Given the description of an element on the screen output the (x, y) to click on. 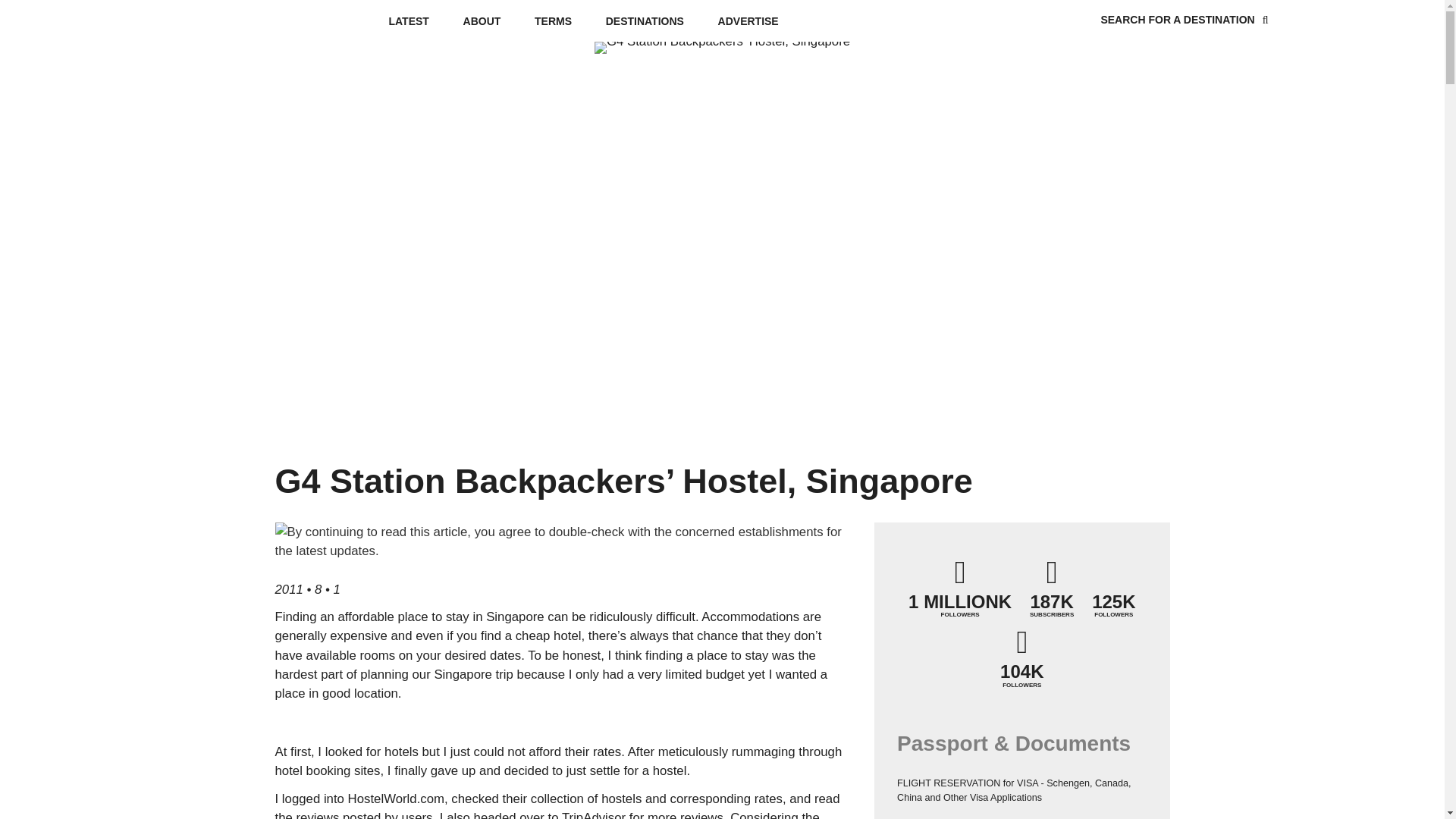
SEARCH FOR A DESTINATION (1184, 19)
